Given the description of an element on the screen output the (x, y) to click on. 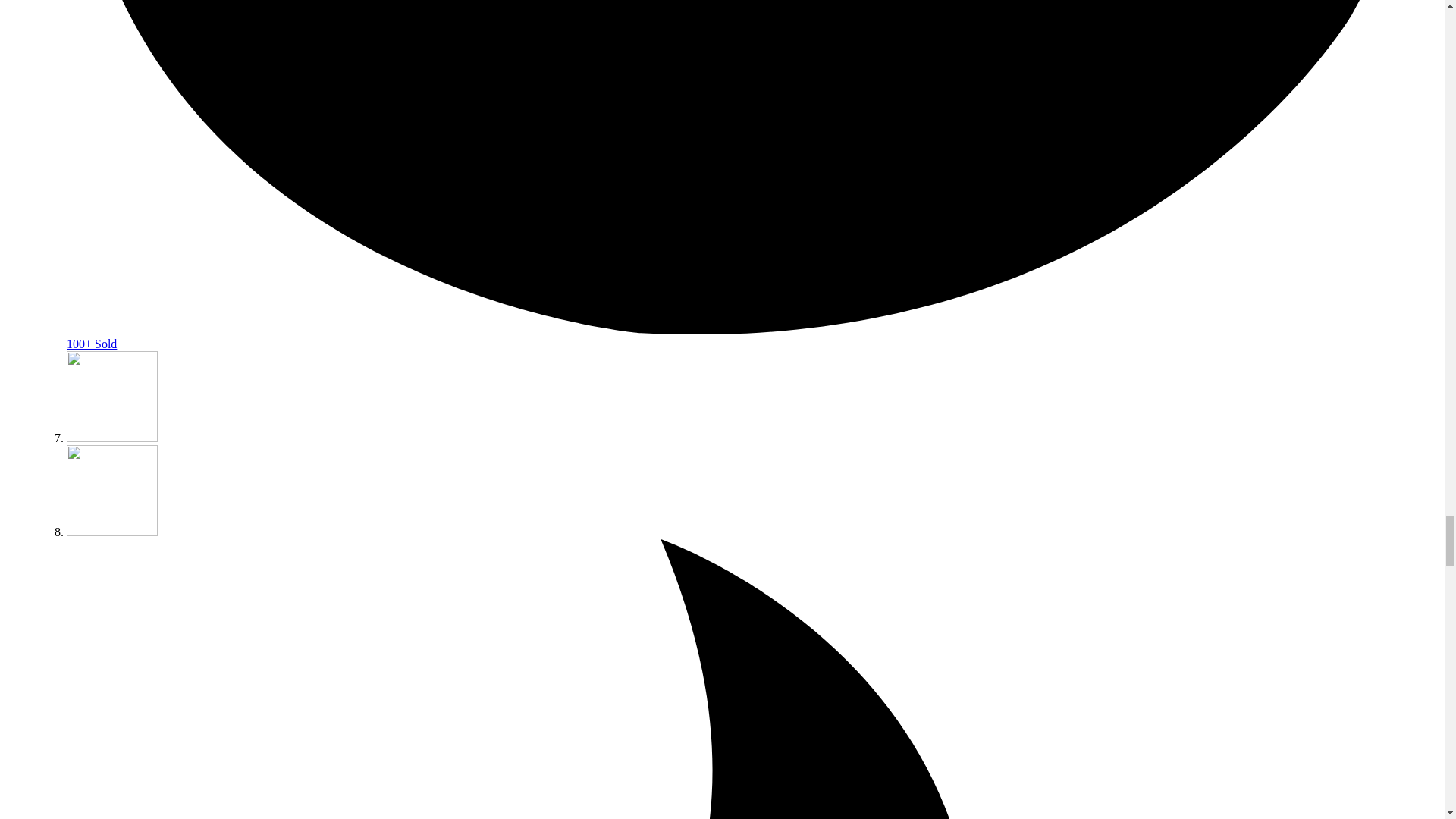
Dreametech Cordless Vacuum T20 (111, 437)
